Given the description of an element on the screen output the (x, y) to click on. 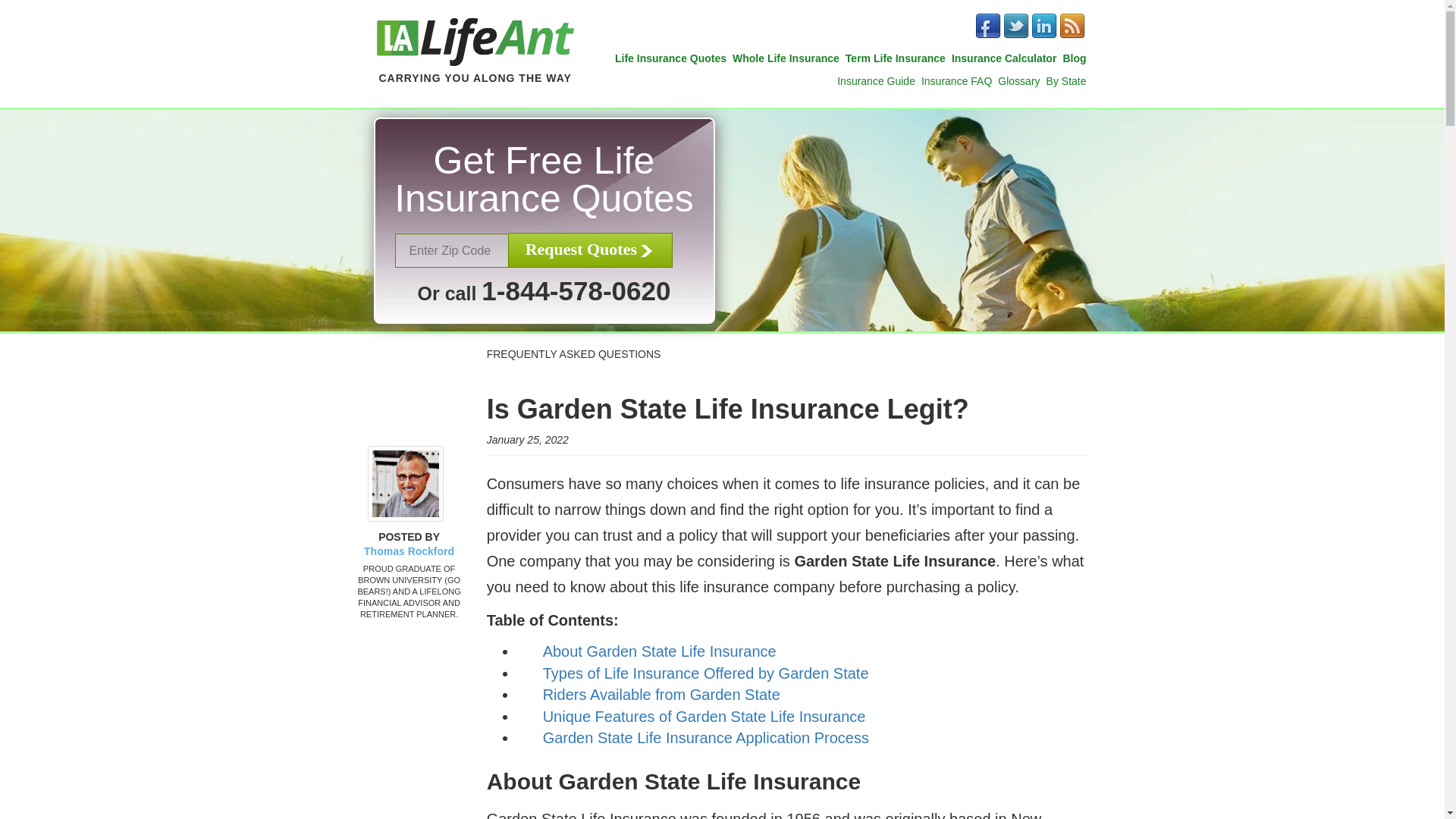
Term Life Insurance (894, 58)
Types of Life Insurance Offered by Garden State (706, 673)
Insurance FAQ (956, 80)
Insurance Calculator (1004, 58)
Garden State Life Insurance Application Process (706, 737)
About Garden State Life Insurance (659, 651)
Blog (1074, 58)
Insurance Guide (876, 80)
By State (1066, 80)
Request Quotes (590, 249)
Riders Available from Garden State (661, 694)
Glossary (1018, 80)
Life Insurance Quotes (670, 58)
Whole Life Insurance (786, 58)
Unique Features of Garden State Life Insurance (704, 716)
